Given the description of an element on the screen output the (x, y) to click on. 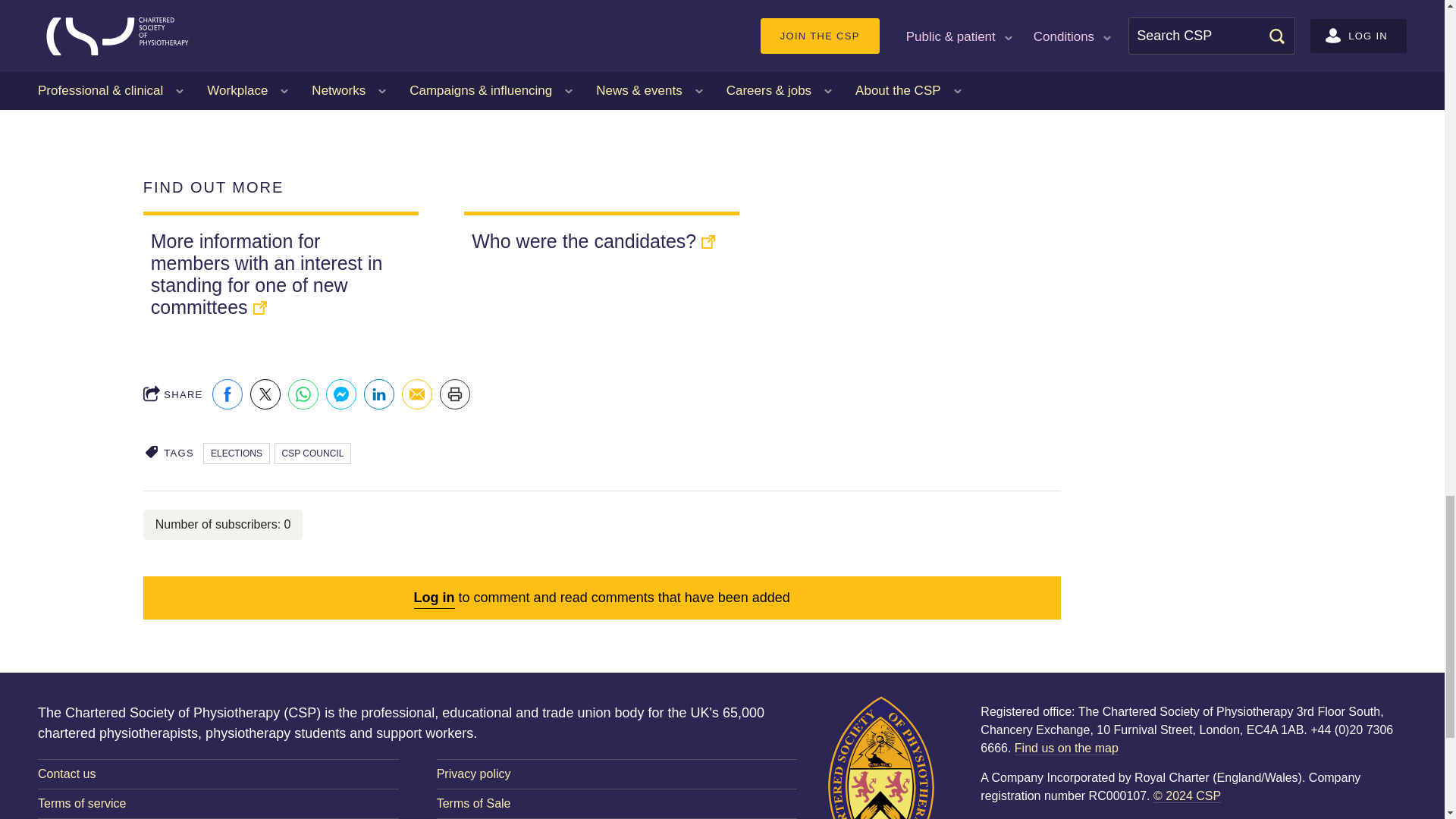
Facebook messenger (341, 394)
Facebook (227, 394)
Linkedin (379, 394)
WhatsApp (303, 394)
Email (416, 394)
